Given the description of an element on the screen output the (x, y) to click on. 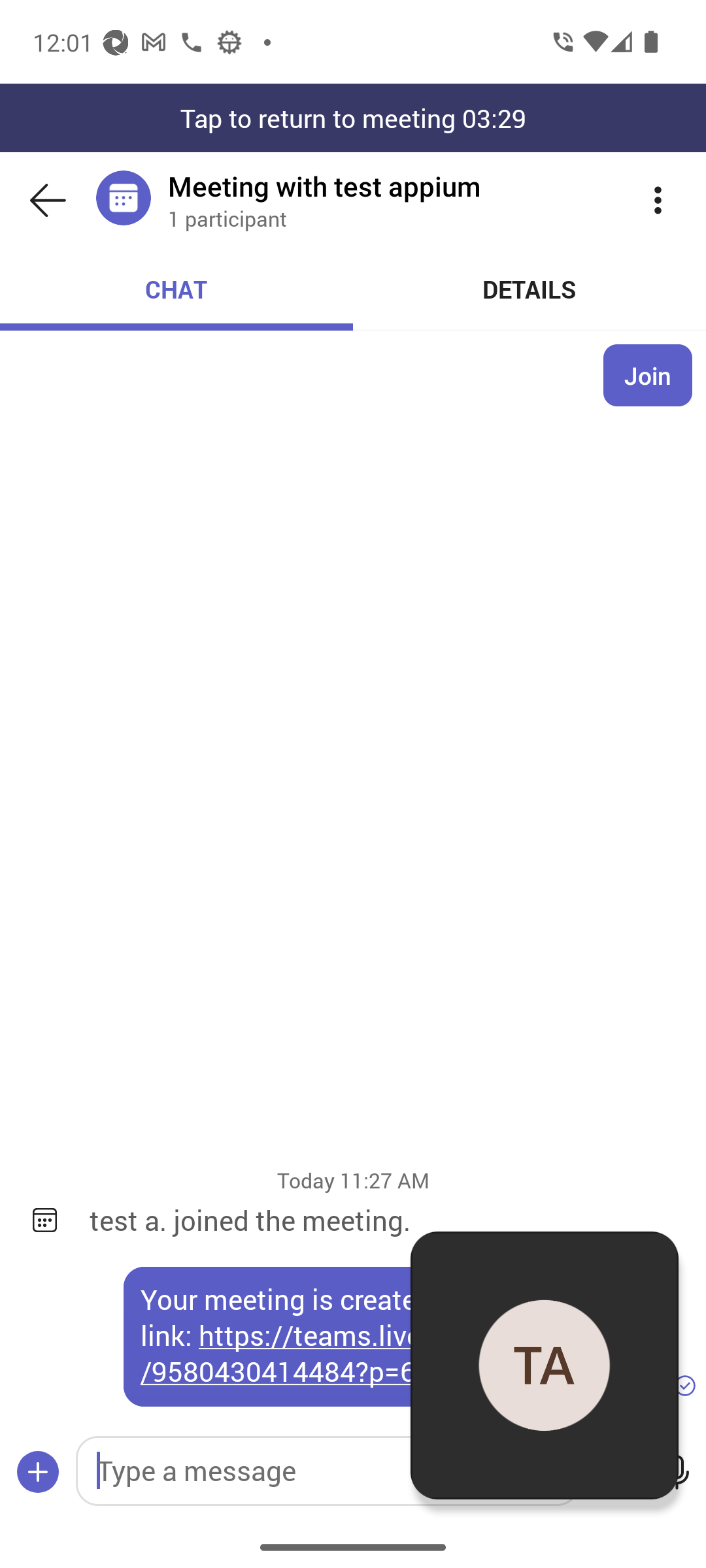
Tap to return to meeting 03:29 (353, 117)
Back (48, 199)
More options (657, 199)
Details DETAILS (529, 288)
Join (647, 375)
test a. joined the meeting. (383, 1219)
Compose options, collapsed (37, 1471)
Type a message (326, 1470)
